Given the description of an element on the screen output the (x, y) to click on. 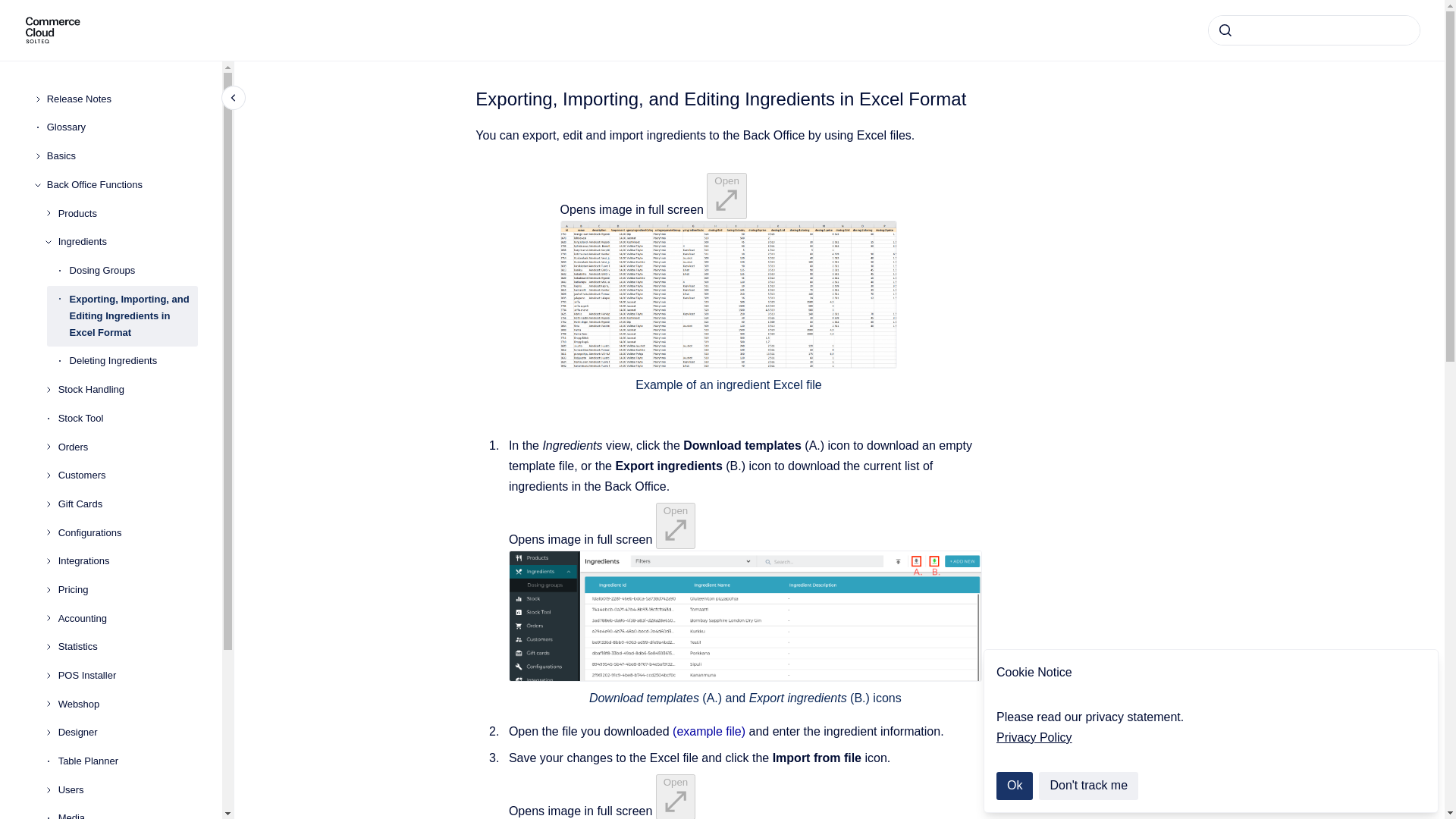
Glossary (122, 127)
Back Office Functions (122, 185)
Ok (1013, 786)
Stock Handling (128, 389)
Deleting Ingredients (133, 361)
Accounting (128, 618)
Don't track me (1088, 786)
Stock Tool (128, 418)
Gift Cards (128, 503)
Ingredients (128, 241)
